Given the description of an element on the screen output the (x, y) to click on. 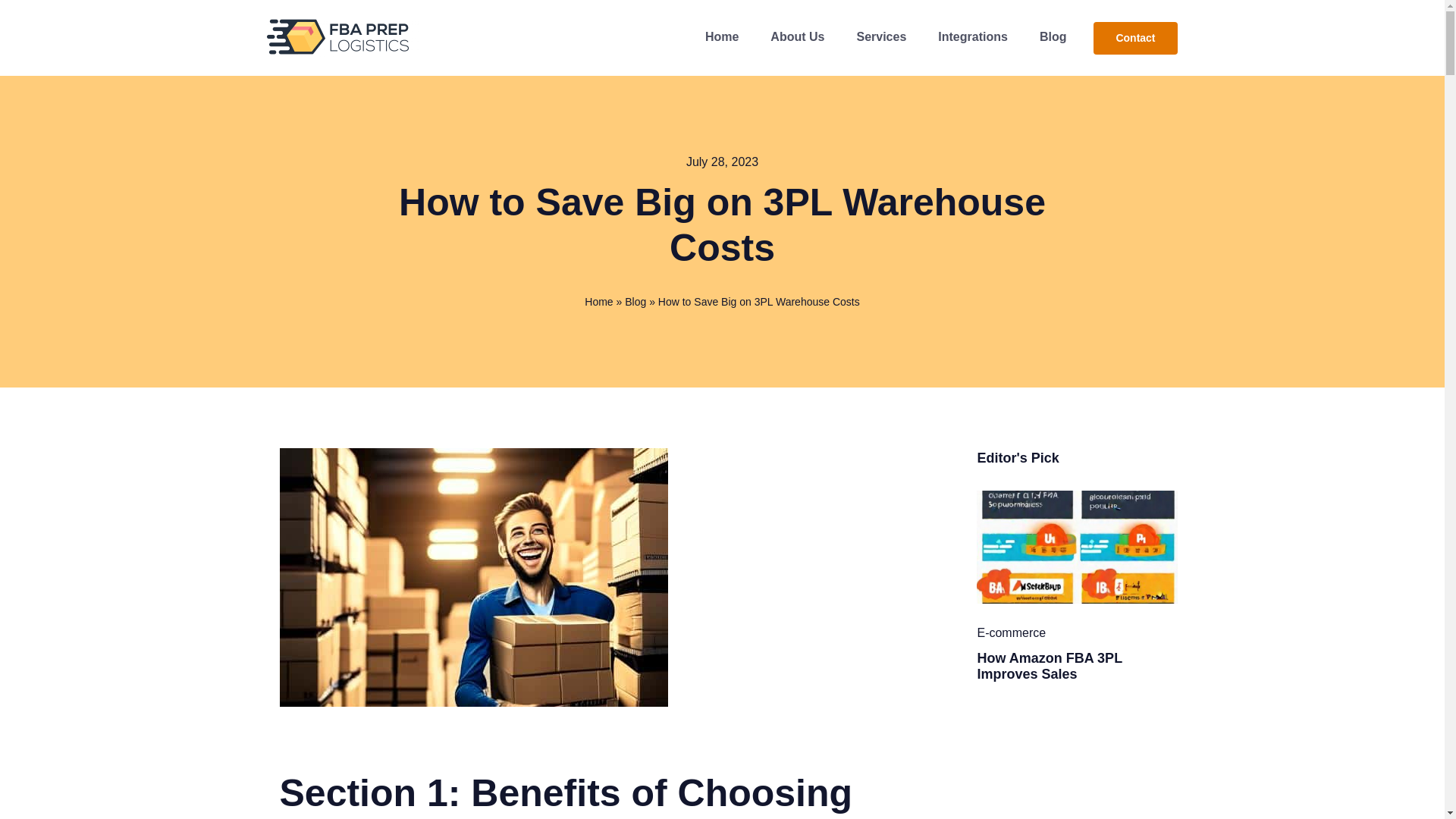
How Amazon FBA 3PL Improves Sales (1048, 666)
Integrations (972, 38)
Blog (635, 301)
how-to-save-big-on-3pl-warehouse-costs (472, 576)
E-commerce (1010, 632)
E-commerce (1010, 632)
Contact (1134, 37)
Home (598, 301)
